Given the description of an element on the screen output the (x, y) to click on. 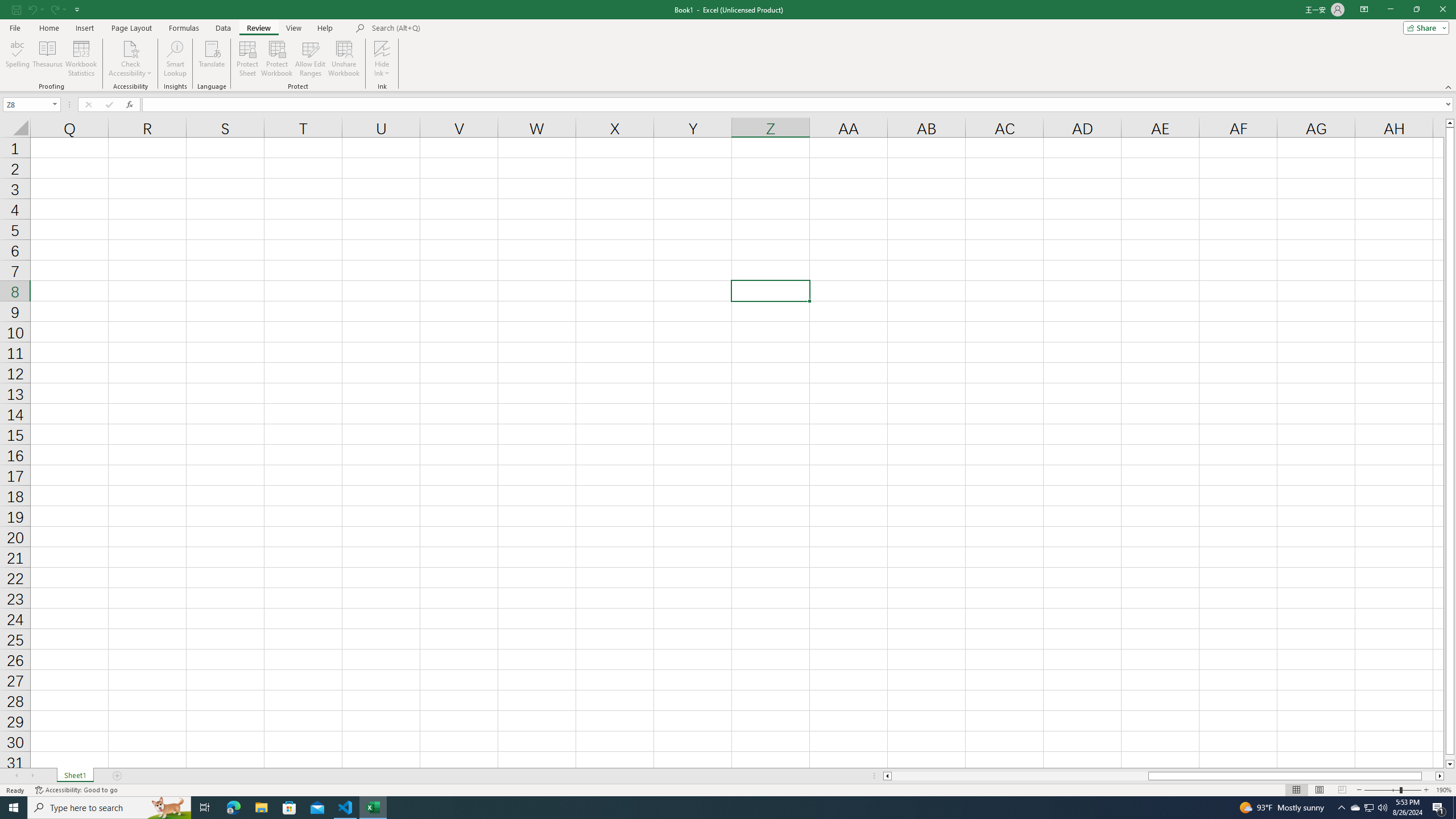
System (6, 6)
Zoom (1392, 790)
View (293, 28)
Home (48, 28)
Page down (1449, 757)
Customize Quick Access Toolbar (77, 9)
